Given the description of an element on the screen output the (x, y) to click on. 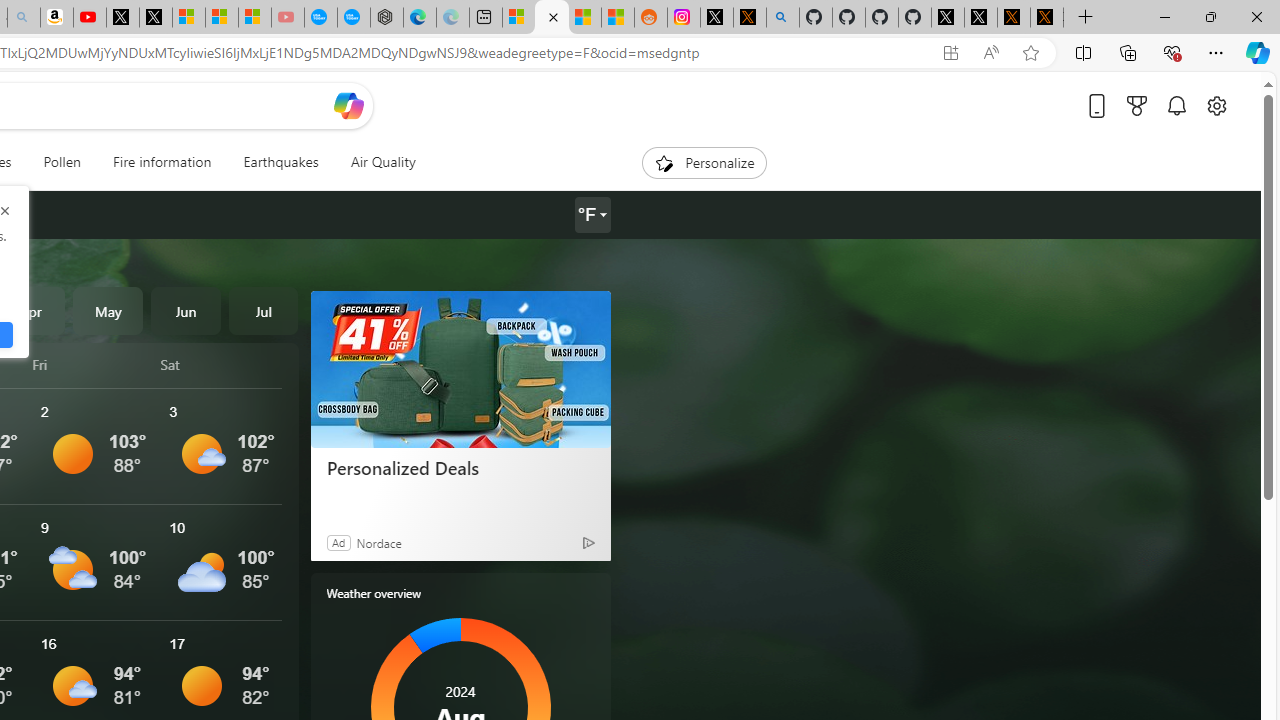
Microsoft rewards (1137, 105)
